Given the description of an element on the screen output the (x, y) to click on. 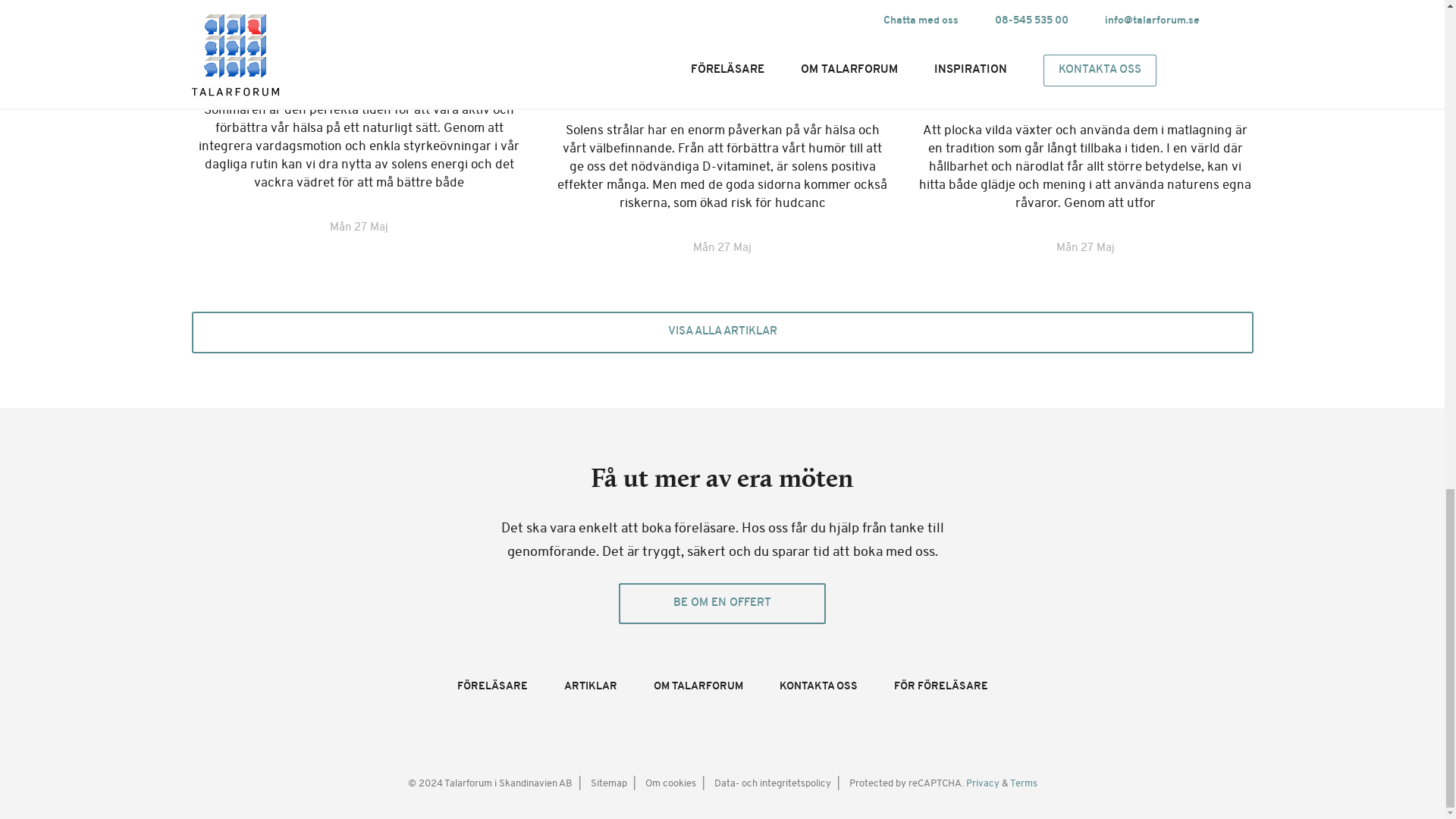
Kontaktuppgifter: Telefon, adress och e-post (817, 686)
Aktiv sommar - javisst! (358, 54)
